Given the description of an element on the screen output the (x, y) to click on. 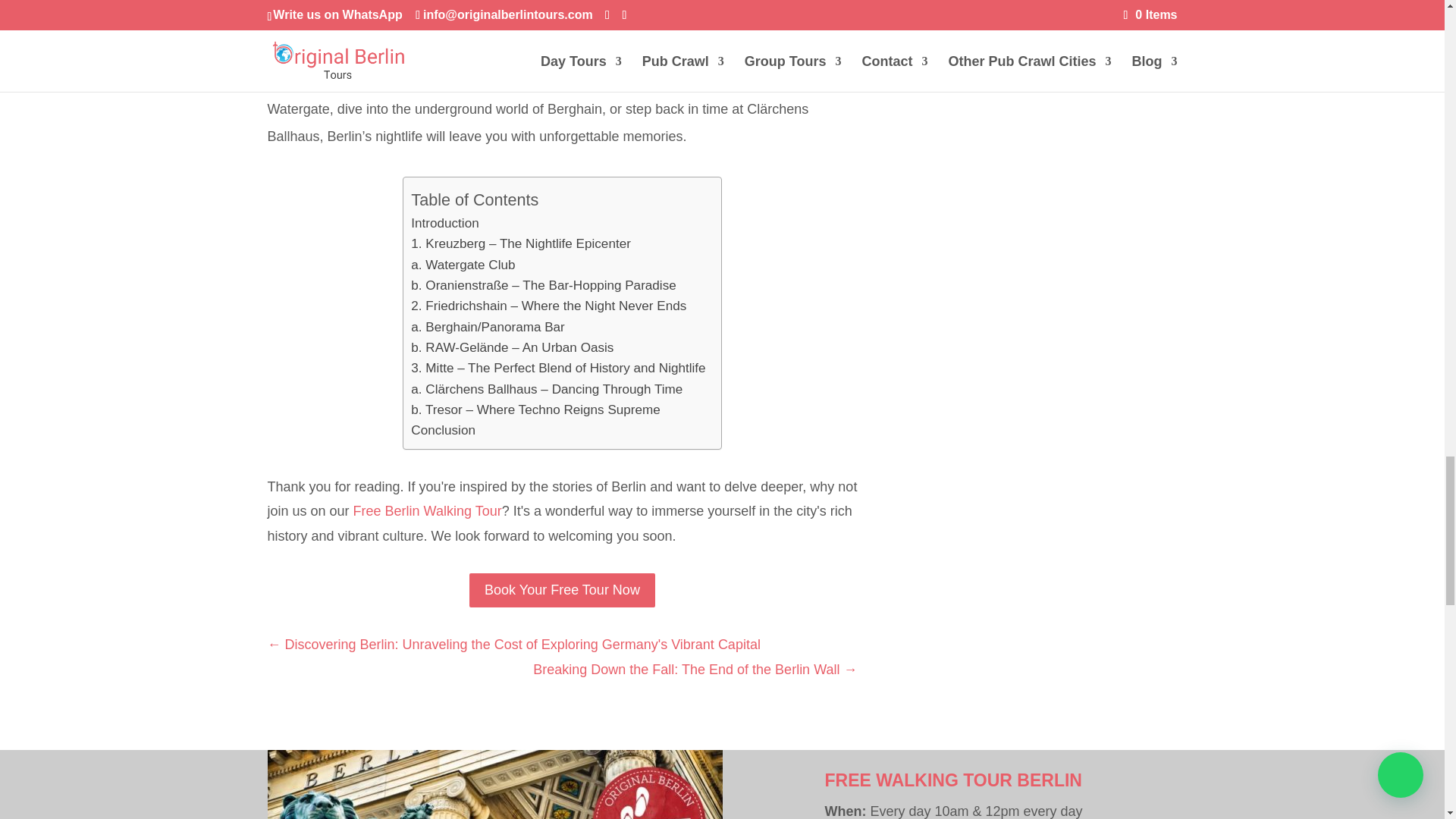
a. Watergate Club (462, 264)
Introduction (444, 222)
Conclusion (443, 430)
